Given the description of an element on the screen output the (x, y) to click on. 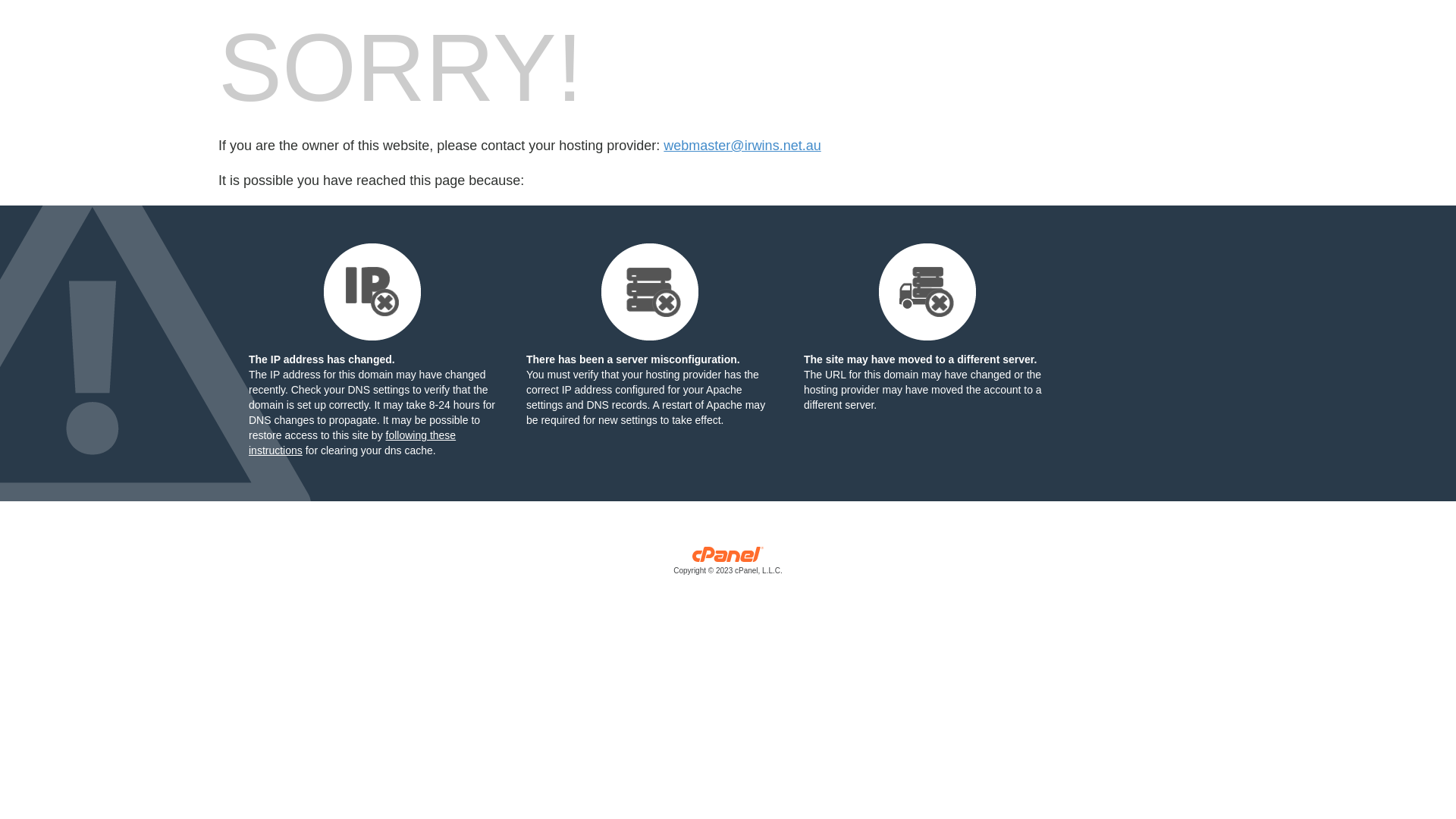
following these instructions Element type: text (351, 442)
webmaster@irwins.net.au Element type: text (741, 145)
